Given the description of an element on the screen output the (x, y) to click on. 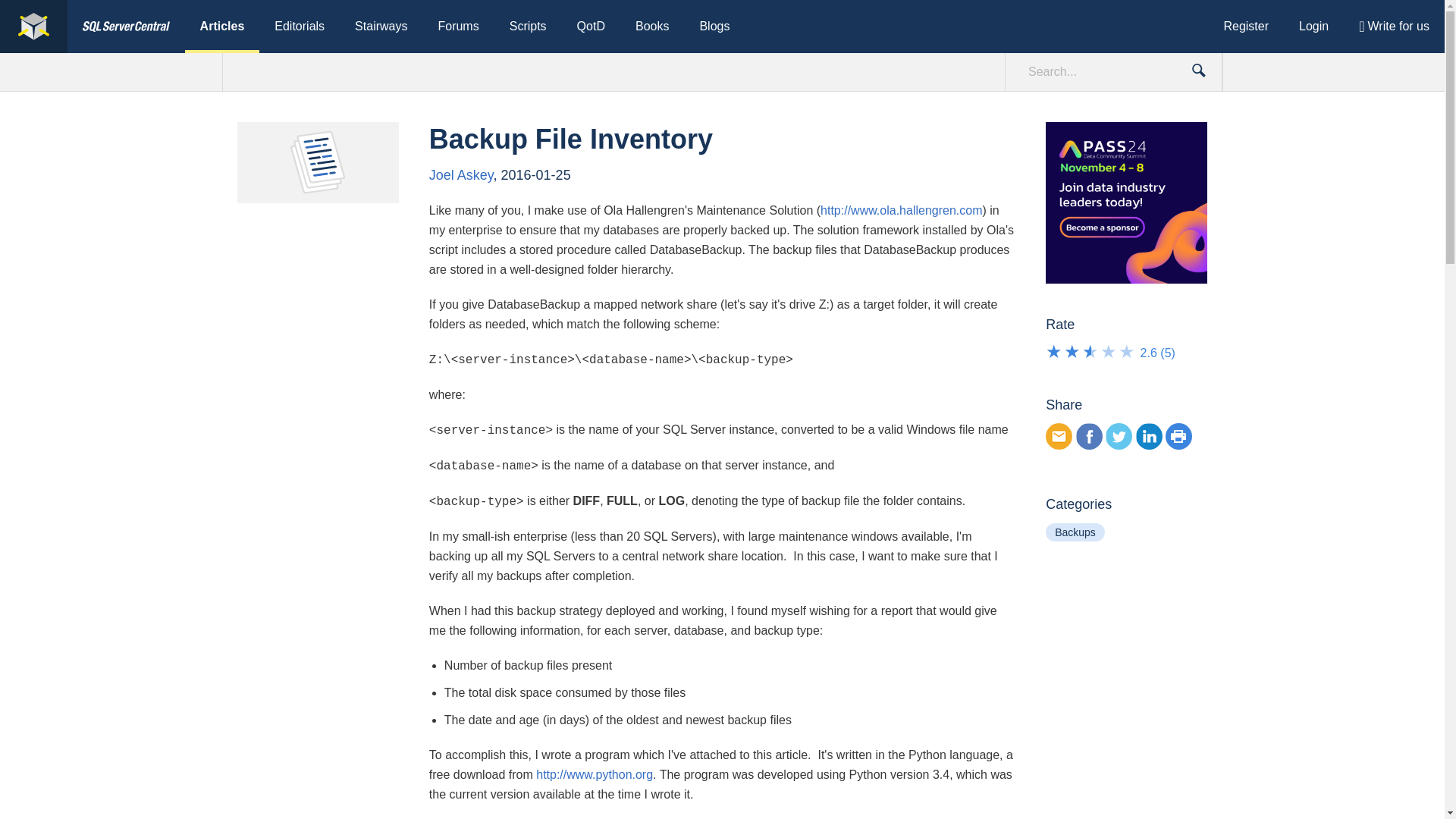
Joel Askey (461, 174)
QotD (591, 26)
Login (1313, 26)
Forums (457, 26)
Email (1058, 436)
Editorials (299, 26)
Share on Facebook (1088, 436)
Books (652, 26)
Print (1179, 436)
Blogs (714, 26)
